Given the description of an element on the screen output the (x, y) to click on. 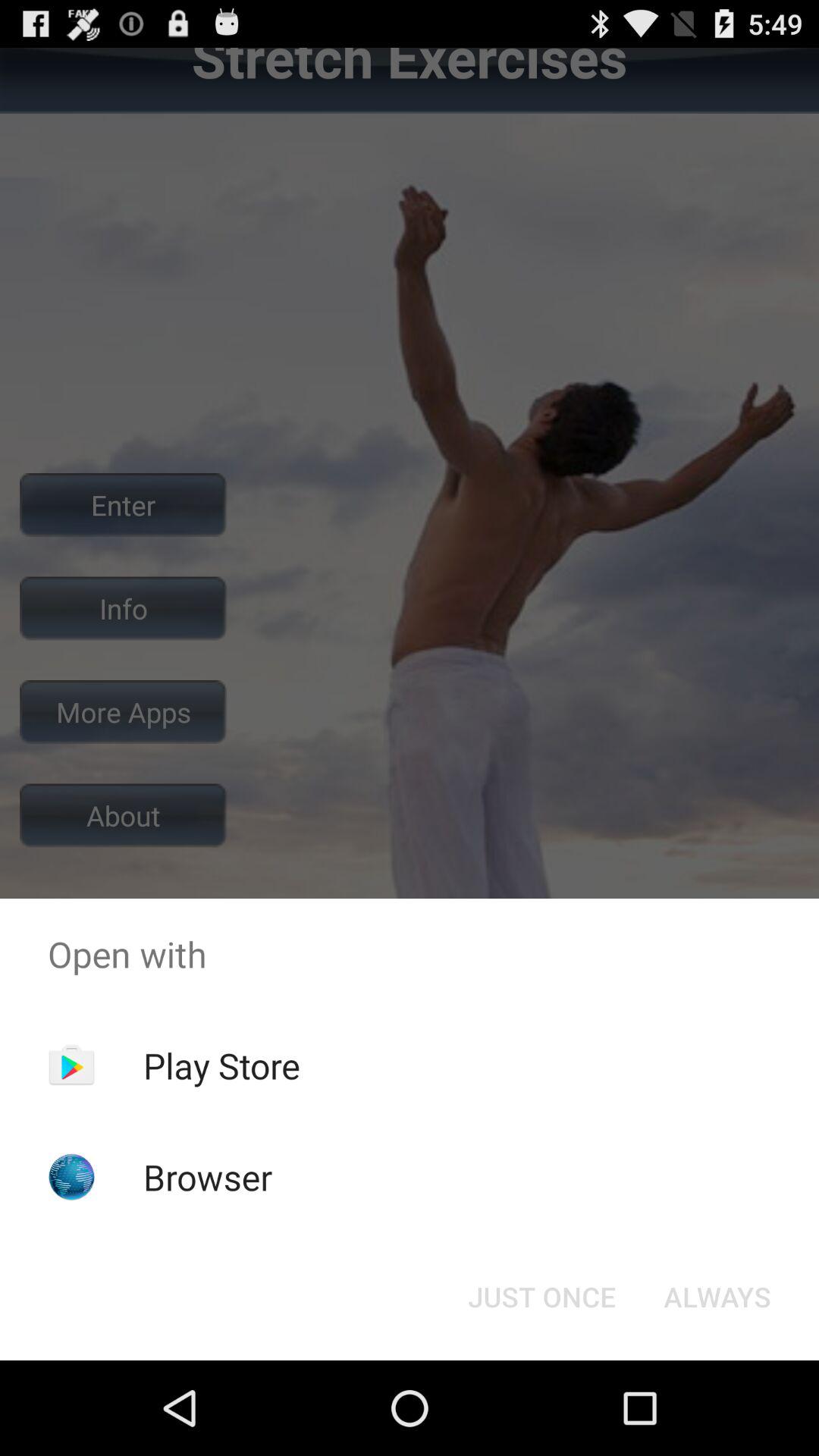
open app below open with item (717, 1296)
